Given the description of an element on the screen output the (x, y) to click on. 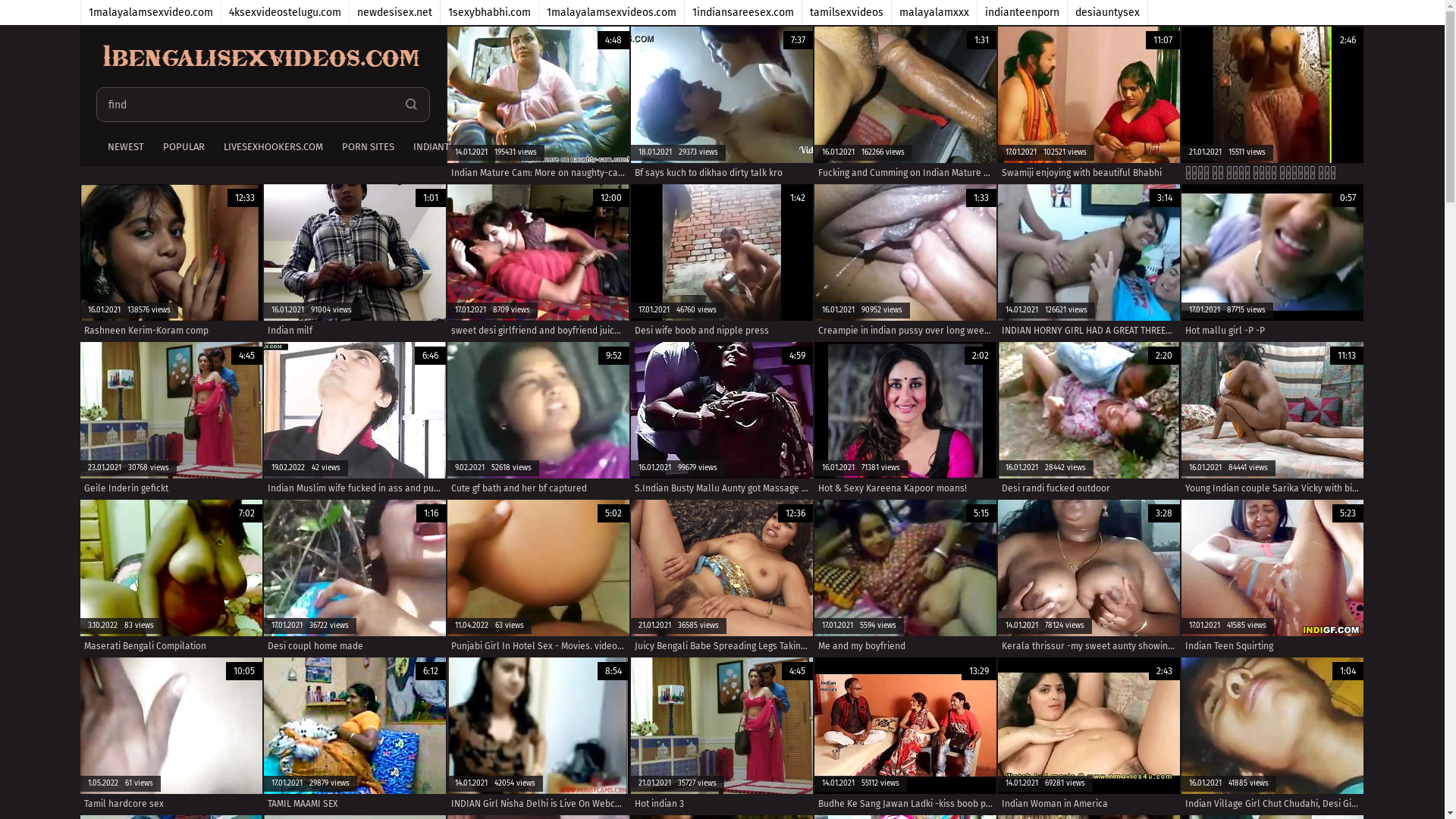
PORN SITES Element type: text (365, 147)
5:15
17.01.2021   5594 views
Me and my boyfriend Element type: text (905, 577)
malayalamxxx Element type: text (934, 12)
1:01
16.01.2021   91004 views
Indian milf Element type: text (354, 262)
7:02
3.10.2022   83 views
Maserati Bengali Compilation Element type: text (171, 577)
1sexybhabhi.com Element type: text (488, 12)
12:33
16.01.2021   138576 views
Rashneen Kerim-Koram comp Element type: text (171, 262)
2:43
14.01.2021   69281 views
Indian Woman in America Element type: text (1088, 735)
1:16
17.01.2021   36722 views
Desi coupl home made Element type: text (354, 577)
newdesisex.net Element type: text (393, 12)
indianteenporn Element type: text (1021, 12)
POPULAR Element type: text (181, 147)
desiauntysex Element type: text (1107, 12)
6:12
17.01.2021   29879 views
TAMIL MAAMI SEX Element type: text (354, 735)
0:57
17.01.2021   87715 views
Hot mallu girl -P -P Element type: text (1272, 262)
INDIANTUBE Element type: text (438, 147)
LIVESEXHOOKERS.COM Element type: text (271, 147)
NEWEST Element type: text (122, 147)
10:05
1.05.2022   61 views
Tamil hardcore sex Element type: text (171, 735)
1malayalamsexvideo.com Element type: text (150, 12)
4ksexvideostelugu.com Element type: text (285, 12)
1malayalamsexvideos.com Element type: text (611, 12)
2:20
16.01.2021   28442 views
Desi randi fucked outdoor Element type: text (1088, 420)
1indiansareesex.com Element type: text (742, 12)
4:45
21.01.2021   35727 views
Hot indian 3 Element type: text (721, 735)
4:45
23.01.2021   30768 views
Geile Inderin gefickt Element type: text (171, 420)
5:23
17.01.2021   41585 views
Indian Teen Squirting Element type: text (1272, 577)
tamilsexvideos Element type: text (846, 12)
